Given the description of an element on the screen output the (x, y) to click on. 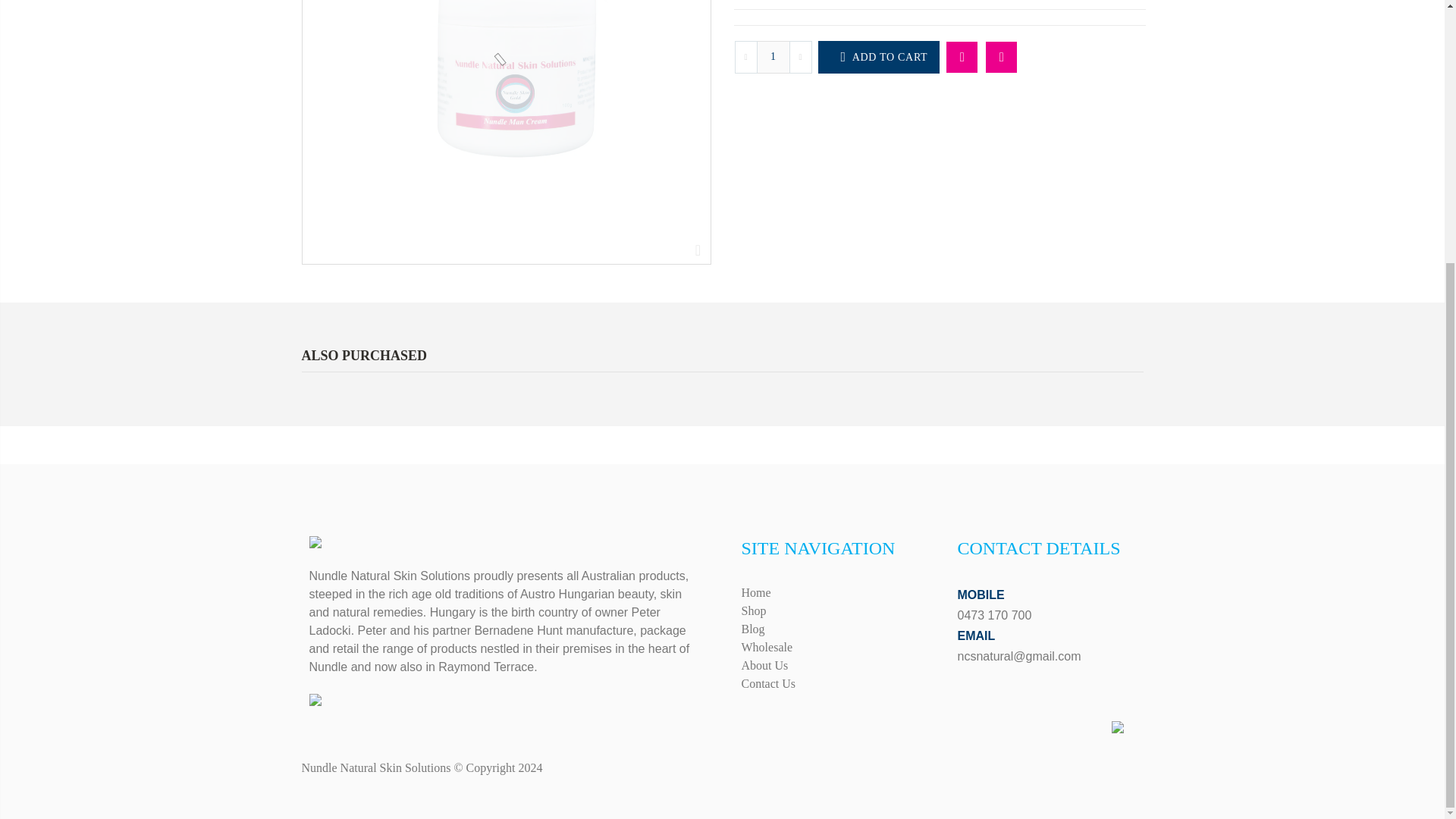
Add to compare (1001, 56)
1 (773, 56)
ADD TO CART (877, 56)
Add to wishlist (961, 56)
